Given the description of an element on the screen output the (x, y) to click on. 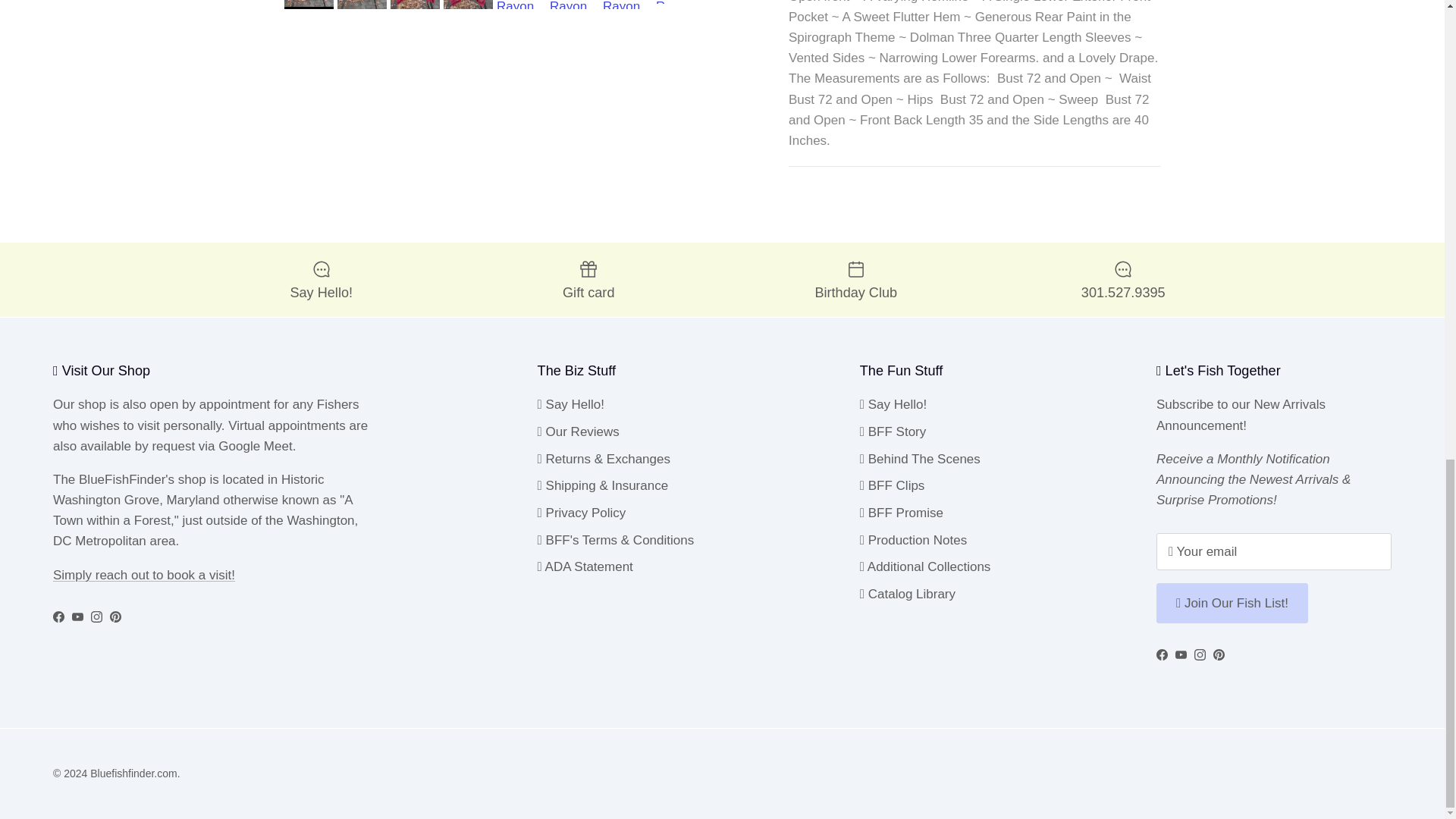
Bluefishfinder.com on Instagram (95, 616)
Bluefishfinder.com on Pinterest (115, 616)
Bluefishfinder.com on Instagram (1199, 654)
Bluefishfinder.com on Facebook (58, 616)
Bluefishfinder.com on Pinterest (1218, 654)
Bluefishfinder.com on YouTube (1180, 654)
Bluefishfinder.com on YouTube (76, 616)
Bluefishfinder.com on Facebook (1161, 654)
